Given the description of an element on the screen output the (x, y) to click on. 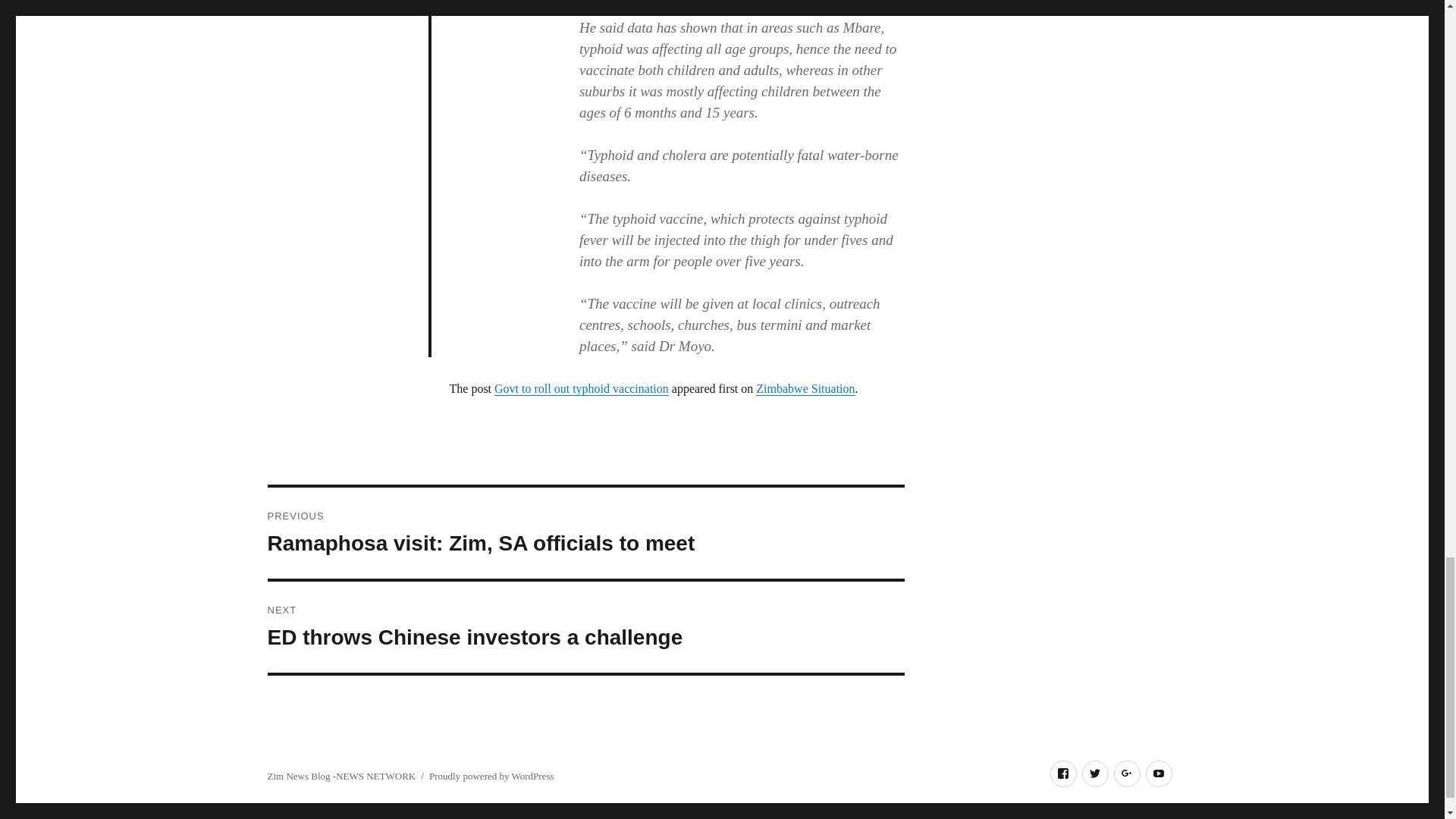
Zimbabwe Situation (585, 626)
Facebook (804, 388)
Proudly powered by WordPress (1062, 773)
Twitter (491, 776)
Govt to roll out typhoid vaccination (1094, 773)
Youtube (581, 388)
Zim News Blog -NEWS NETWORK (1158, 773)
